Given the description of an element on the screen output the (x, y) to click on. 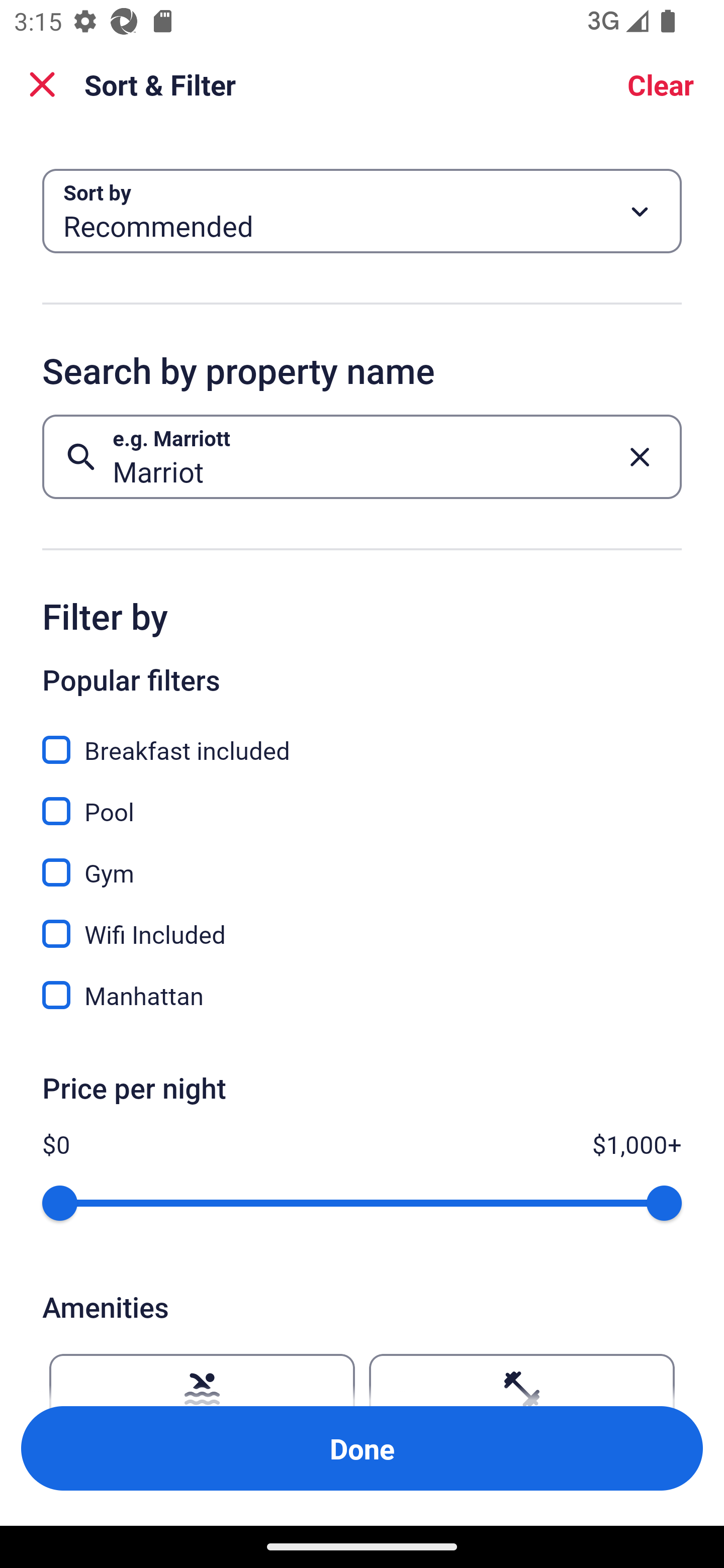
Close Sort and Filter (42, 84)
Clear (660, 84)
Sort by Button Recommended (361, 211)
e.g. Marriott Button Marriot (361, 455)
Breakfast included, Breakfast included (361, 738)
Pool, Pool (361, 800)
Gym, Gym (361, 861)
Wifi Included, Wifi Included (361, 922)
Manhattan, Manhattan (361, 995)
Apply and close Sort and Filter Done (361, 1448)
